Given the description of an element on the screen output the (x, y) to click on. 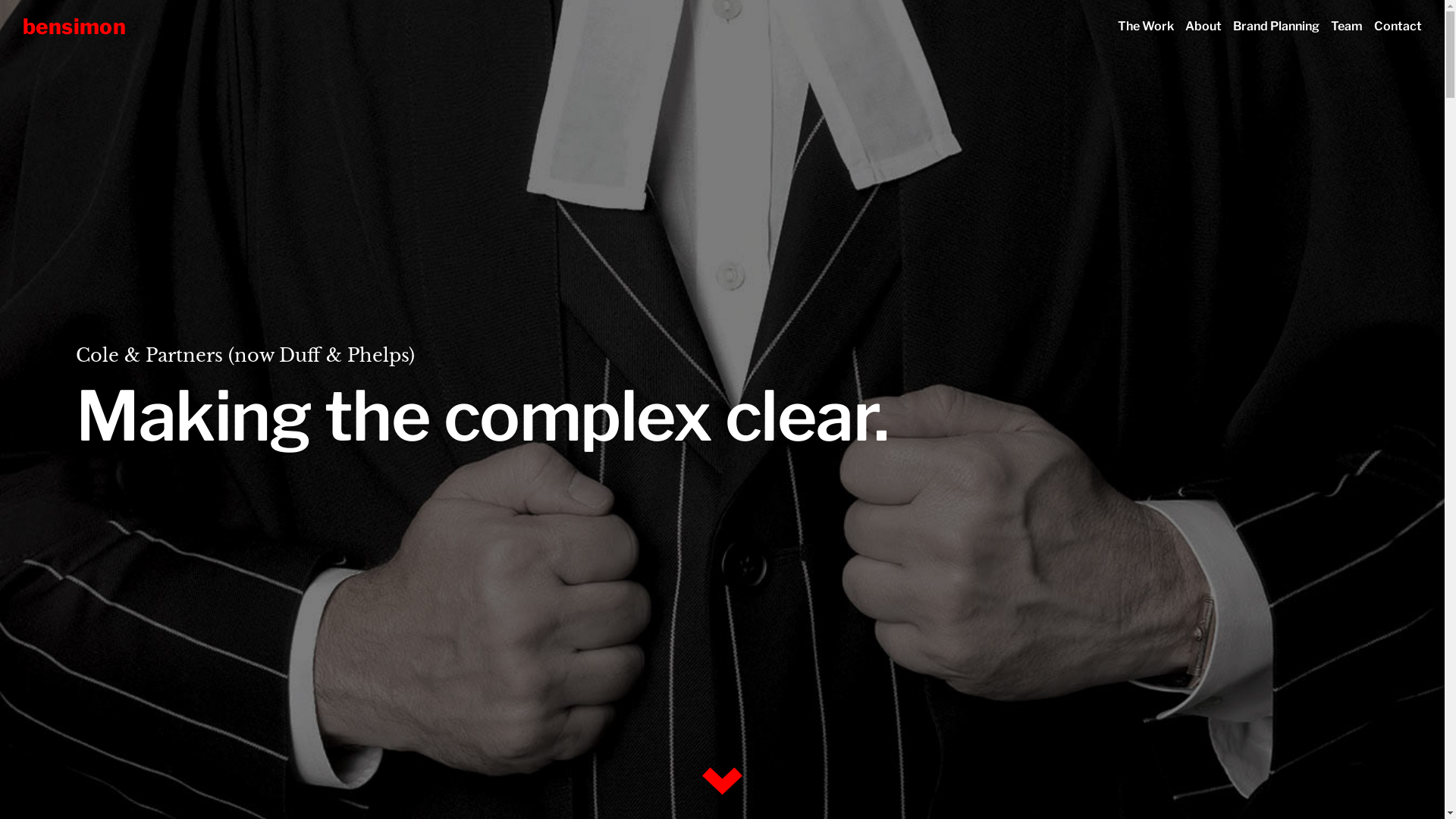
Contact Element type: text (1394, 25)
bensimon Element type: text (73, 26)
Team Element type: text (1346, 25)
Brand Planning Element type: text (1275, 25)
The Work Element type: text (1145, 25)
About Element type: text (1203, 25)
